Given the description of an element on the screen output the (x, y) to click on. 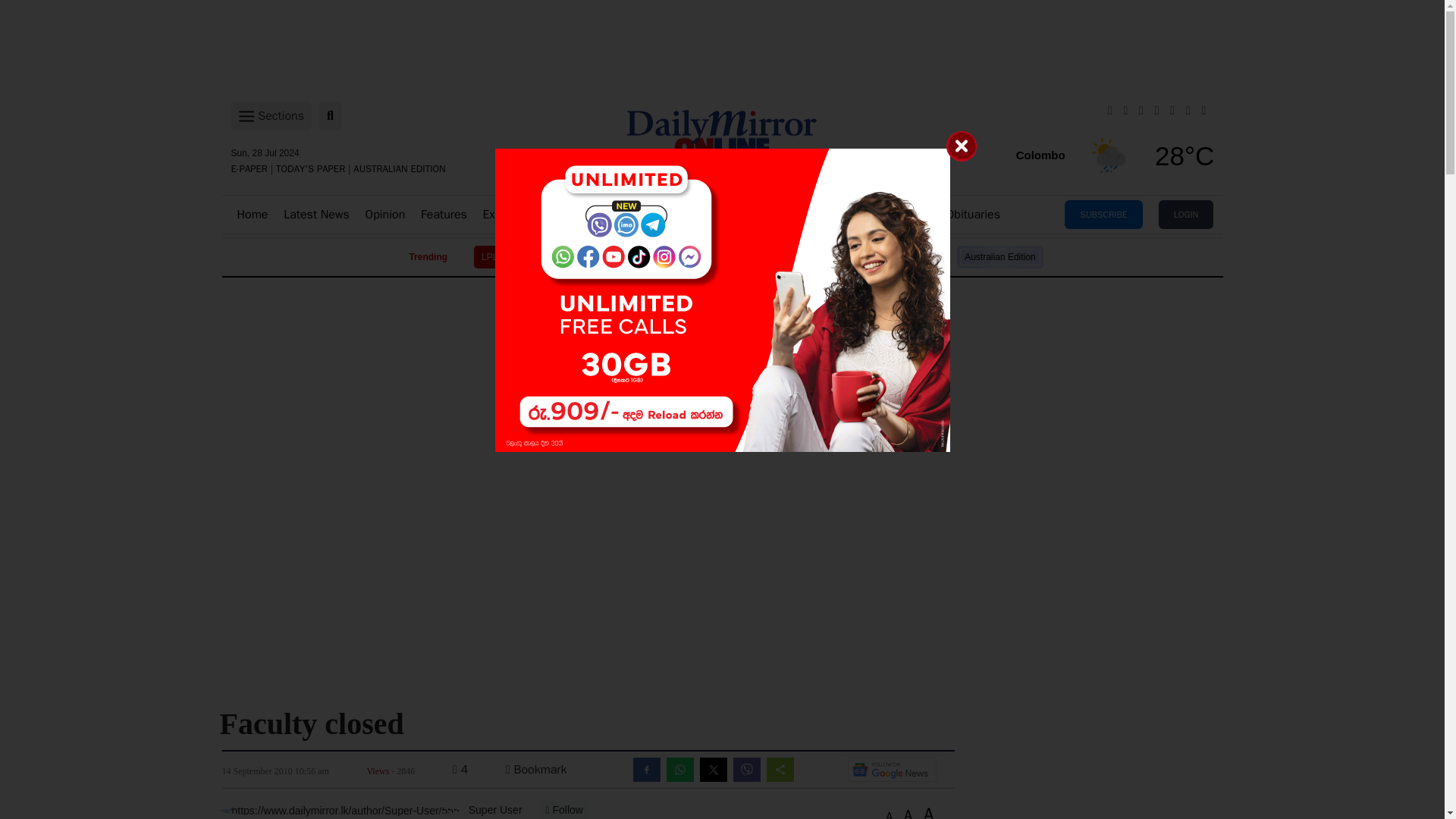
3rd party ad content (721, 433)
3rd party ad content (721, 536)
3rd party ad content (721, 332)
